Given the description of an element on the screen output the (x, y) to click on. 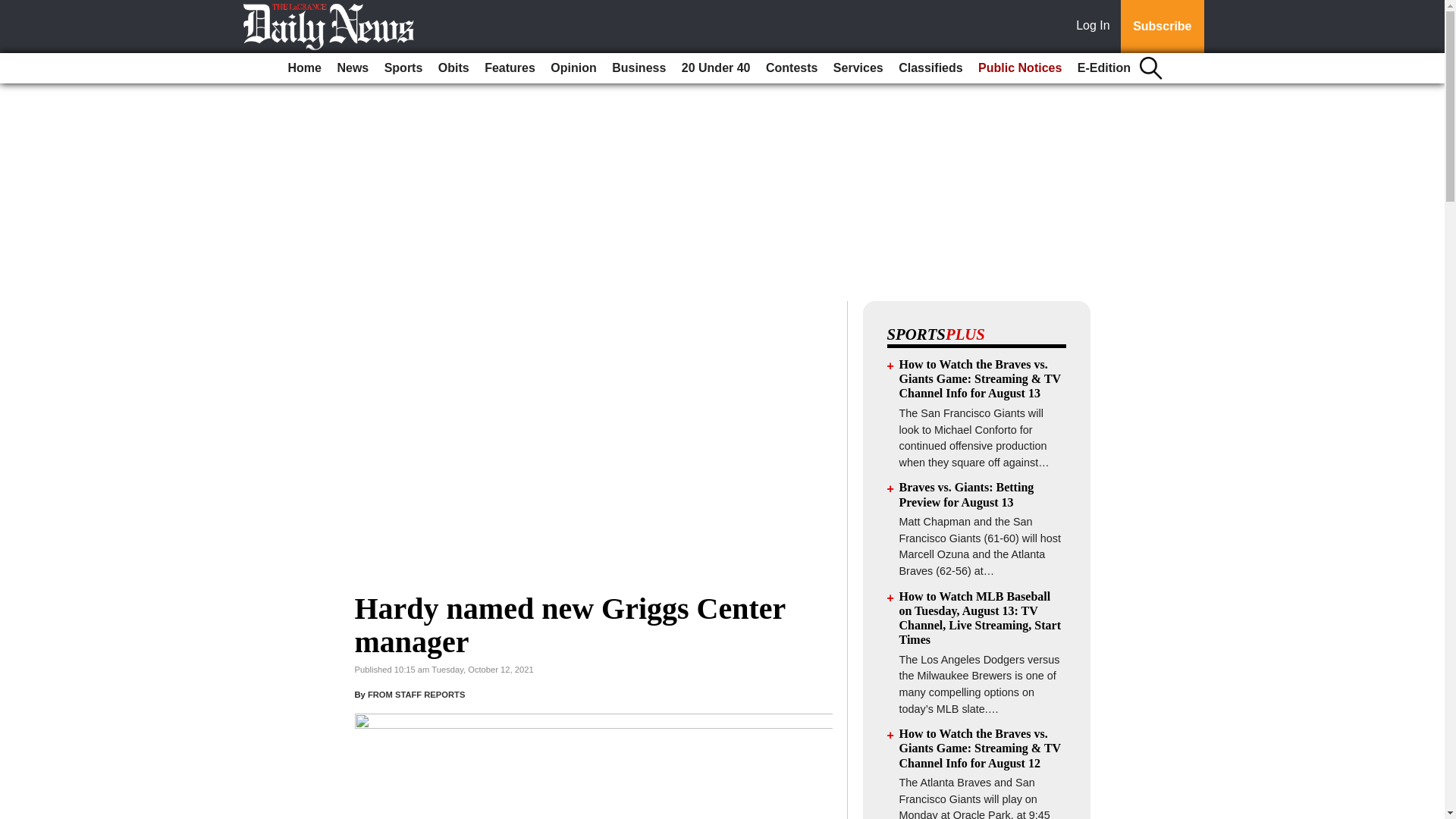
Classifieds (930, 68)
Features (510, 68)
Services (858, 68)
Log In (1095, 26)
Public Notices (1019, 68)
News (352, 68)
Contests (792, 68)
E-Edition (1104, 68)
Braves vs. Giants: Betting Preview for August 13 (966, 493)
Home (304, 68)
